Given the description of an element on the screen output the (x, y) to click on. 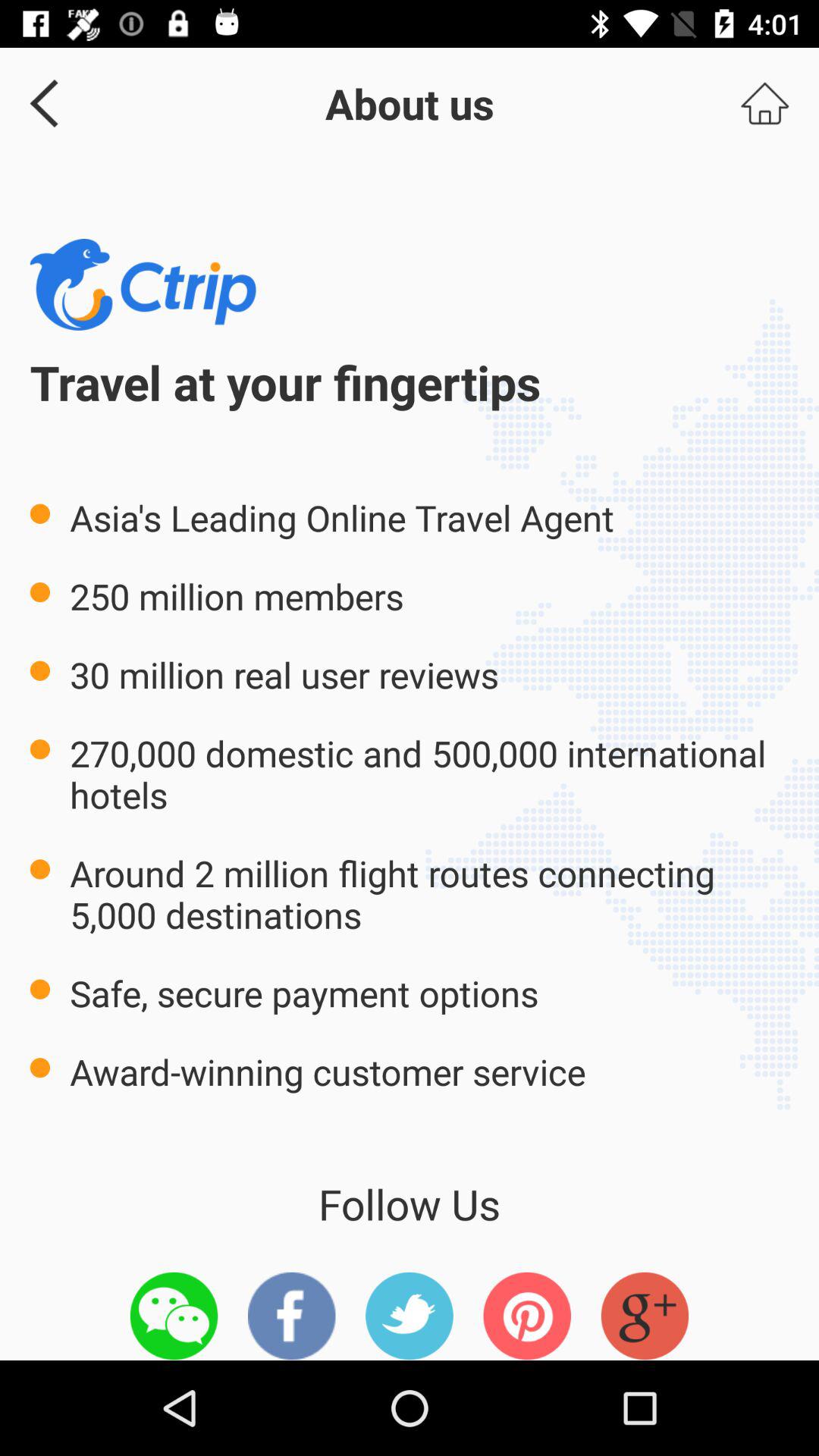
goto homepage (764, 103)
